Given the description of an element on the screen output the (x, y) to click on. 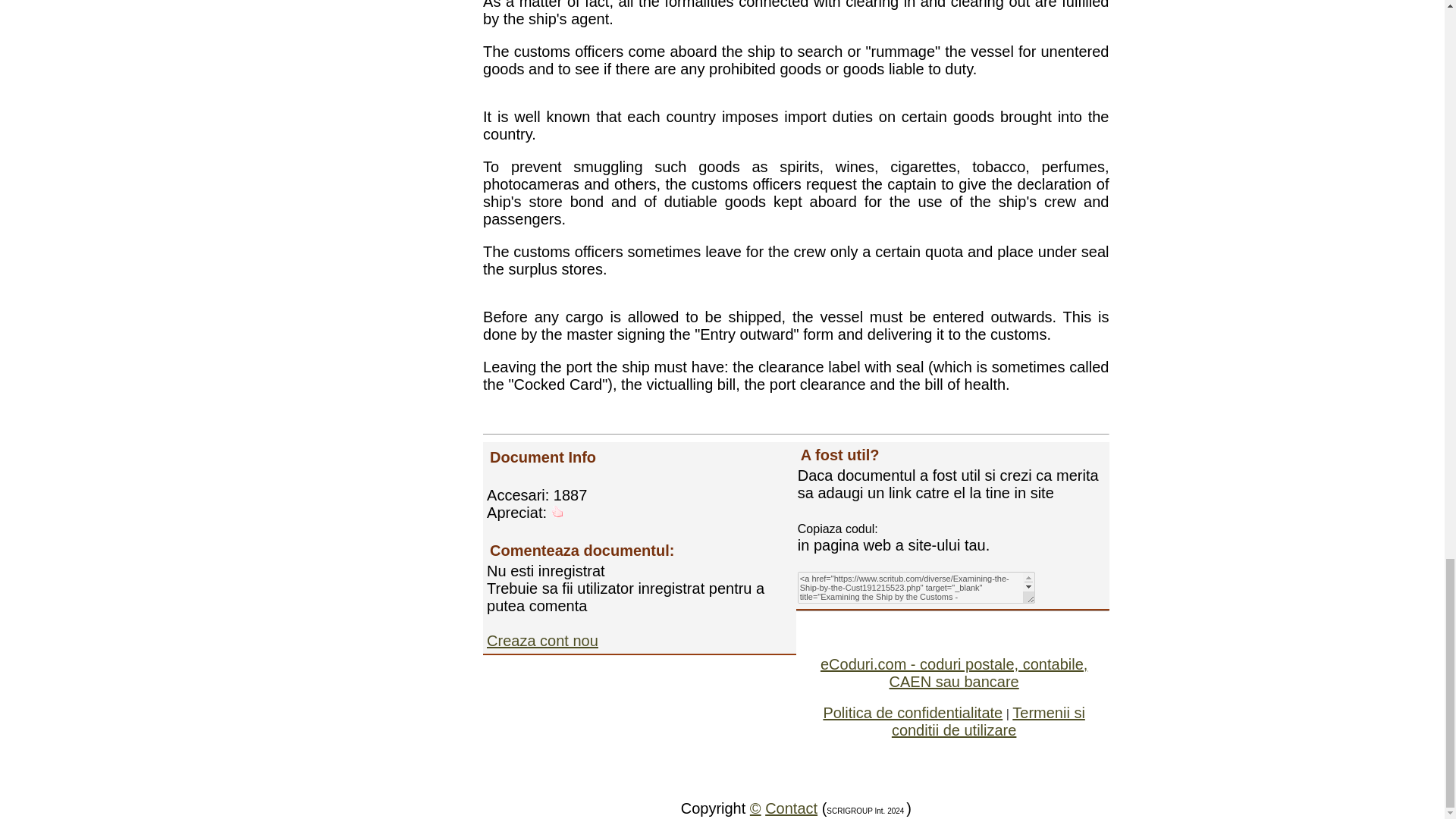
Creaza cont nou (542, 640)
Politica de confidentialitate (912, 712)
Termenii si conditii de utilizare (987, 721)
eCoduri.com - coduri postale, contabile, CAEN sau bancare (954, 673)
